Given the description of an element on the screen output the (x, y) to click on. 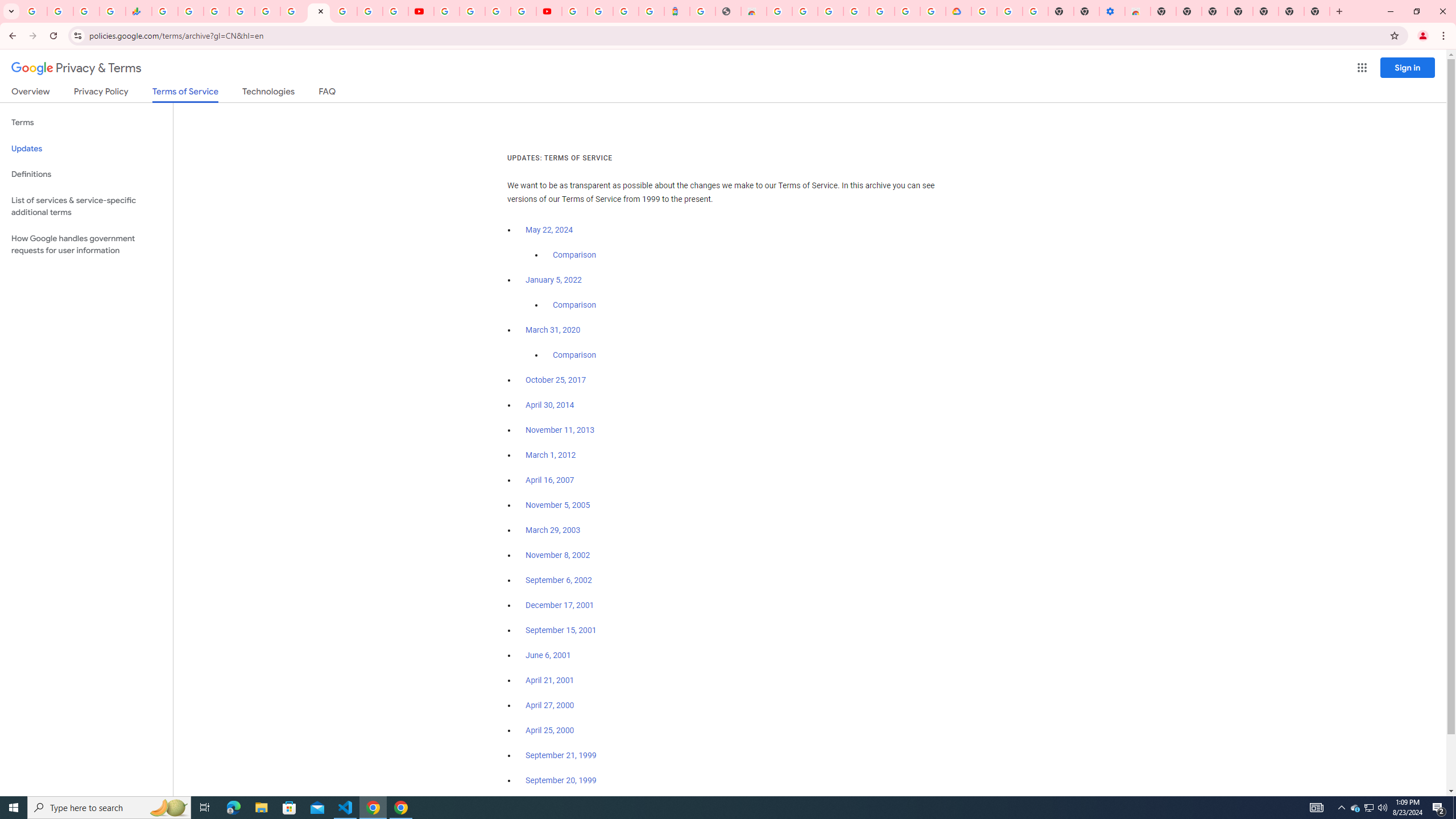
Sign in - Google Accounts (600, 11)
Google Account Help (472, 11)
April 16, 2007 (550, 480)
Chrome Web Store - Household (753, 11)
Comparison (574, 355)
New Tab (1265, 11)
